Given the description of an element on the screen output the (x, y) to click on. 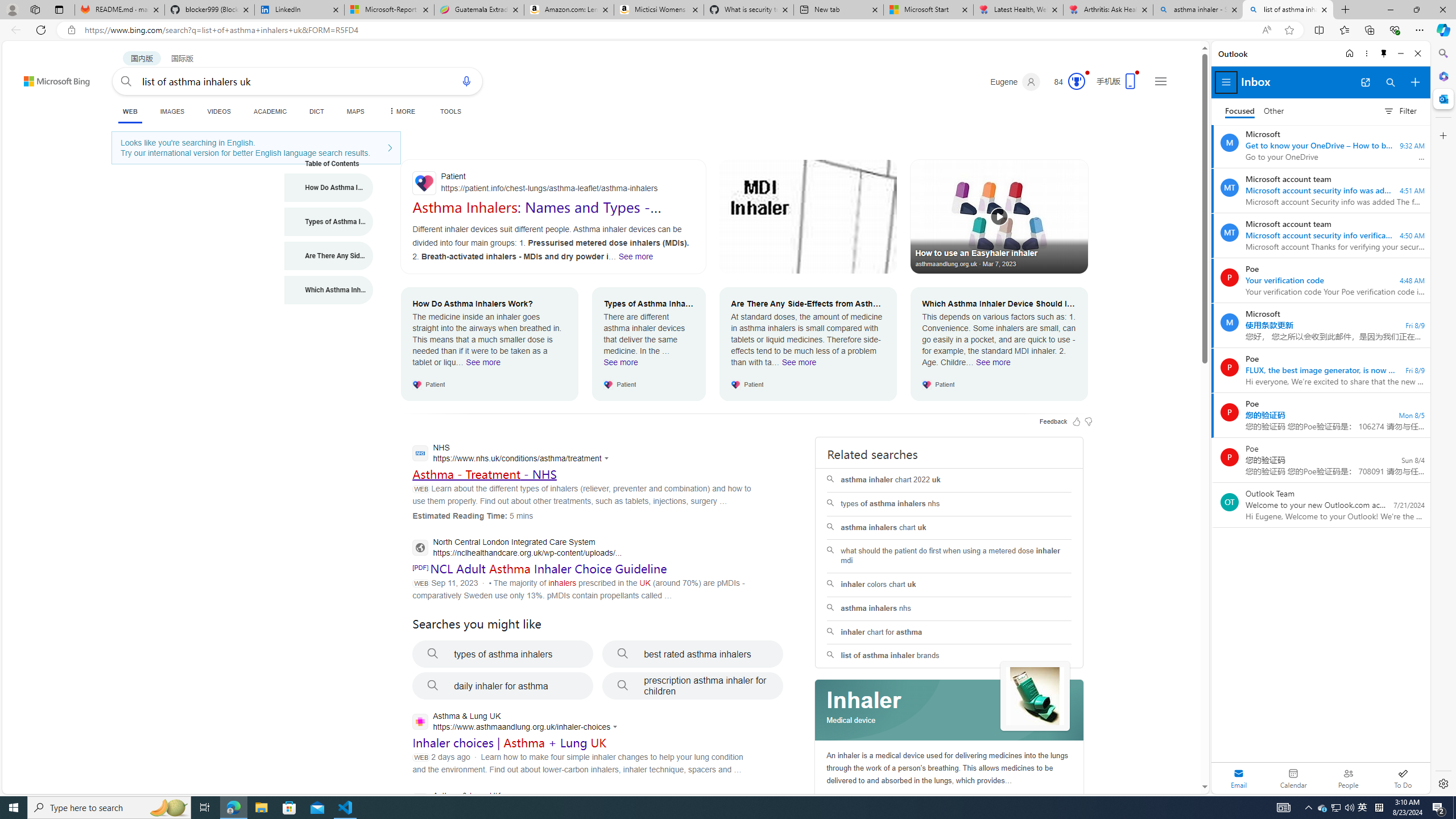
daily inhaler for asthma (503, 685)
Asthma & Lung UK (513, 802)
inhaler chart for asthma (949, 632)
inhaler colors chart uk (949, 584)
inhaler chart for asthma (949, 632)
Compose new mail (1414, 82)
